Given the description of an element on the screen output the (x, y) to click on. 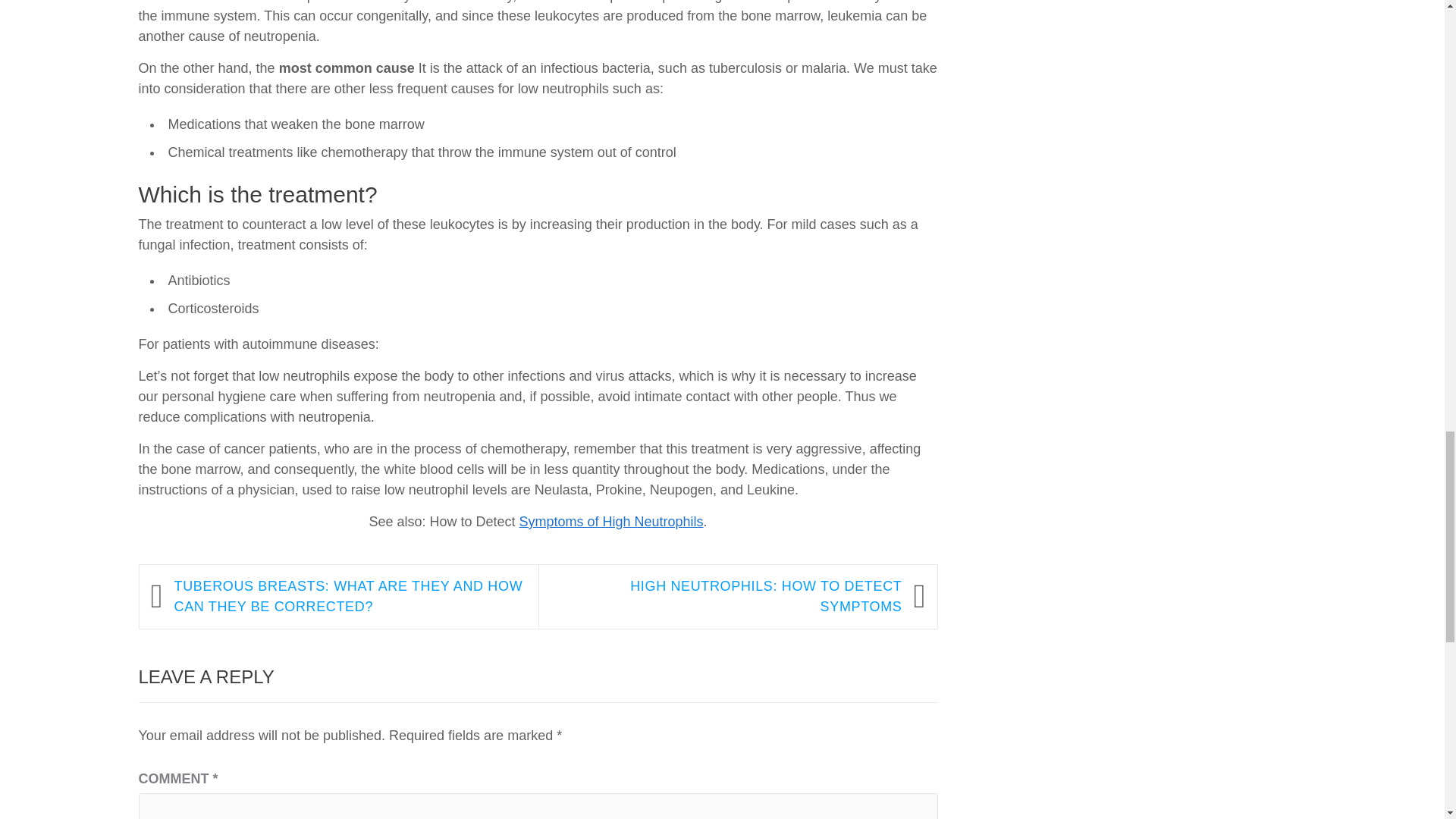
Symptoms of High Neutrophils (610, 521)
HIGH NEUTROPHILS: HOW TO DETECT SYMPTOMS (726, 596)
